Given the description of an element on the screen output the (x, y) to click on. 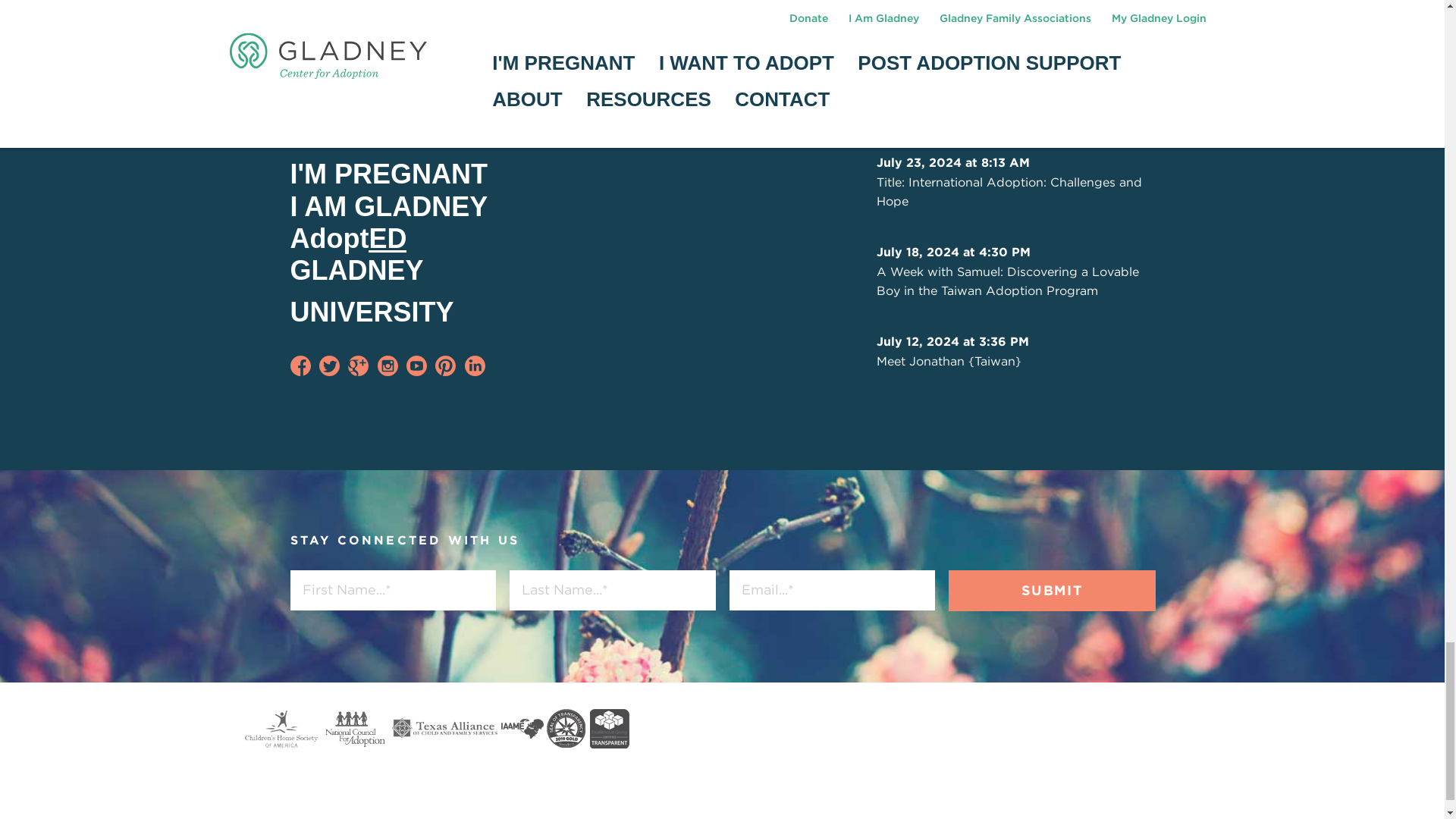
Submit (1051, 590)
See all events... (653, 116)
See Us On YouTube (416, 365)
Submit Comment (365, 9)
Submit Comment (365, 9)
Join Us On LinkedIn (474, 365)
Follow Us On Instagram (387, 365)
Like Us On Facebook (299, 365)
Visit the Childrens Home Society of America website (280, 729)
Follow Us On Twitter (328, 365)
Follow Us On Pinterest (445, 365)
Visit the National Council for Adoption website (354, 729)
